Given the description of an element on the screen output the (x, y) to click on. 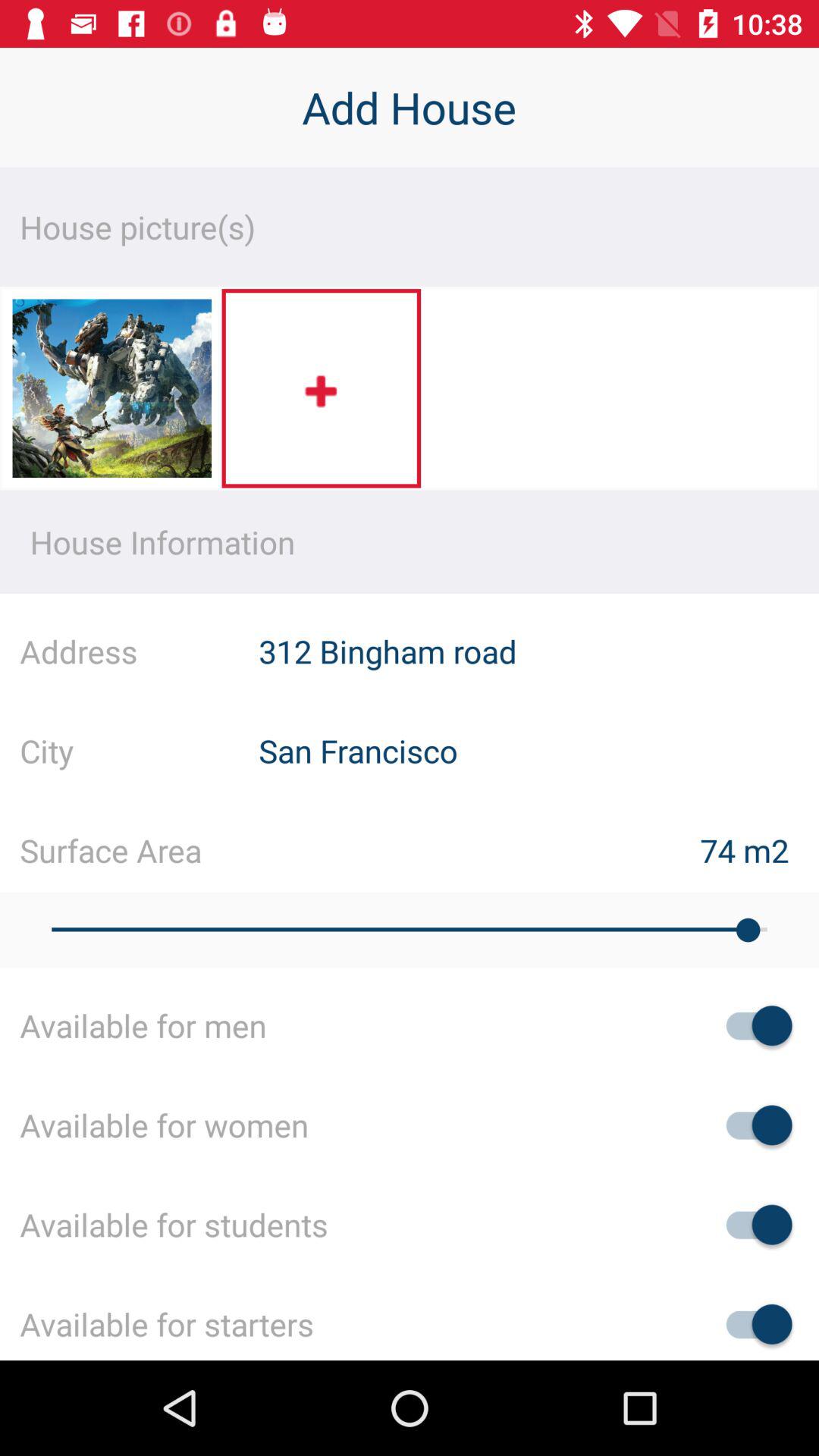
adds a picture of the house (320, 387)
